Given the description of an element on the screen output the (x, y) to click on. 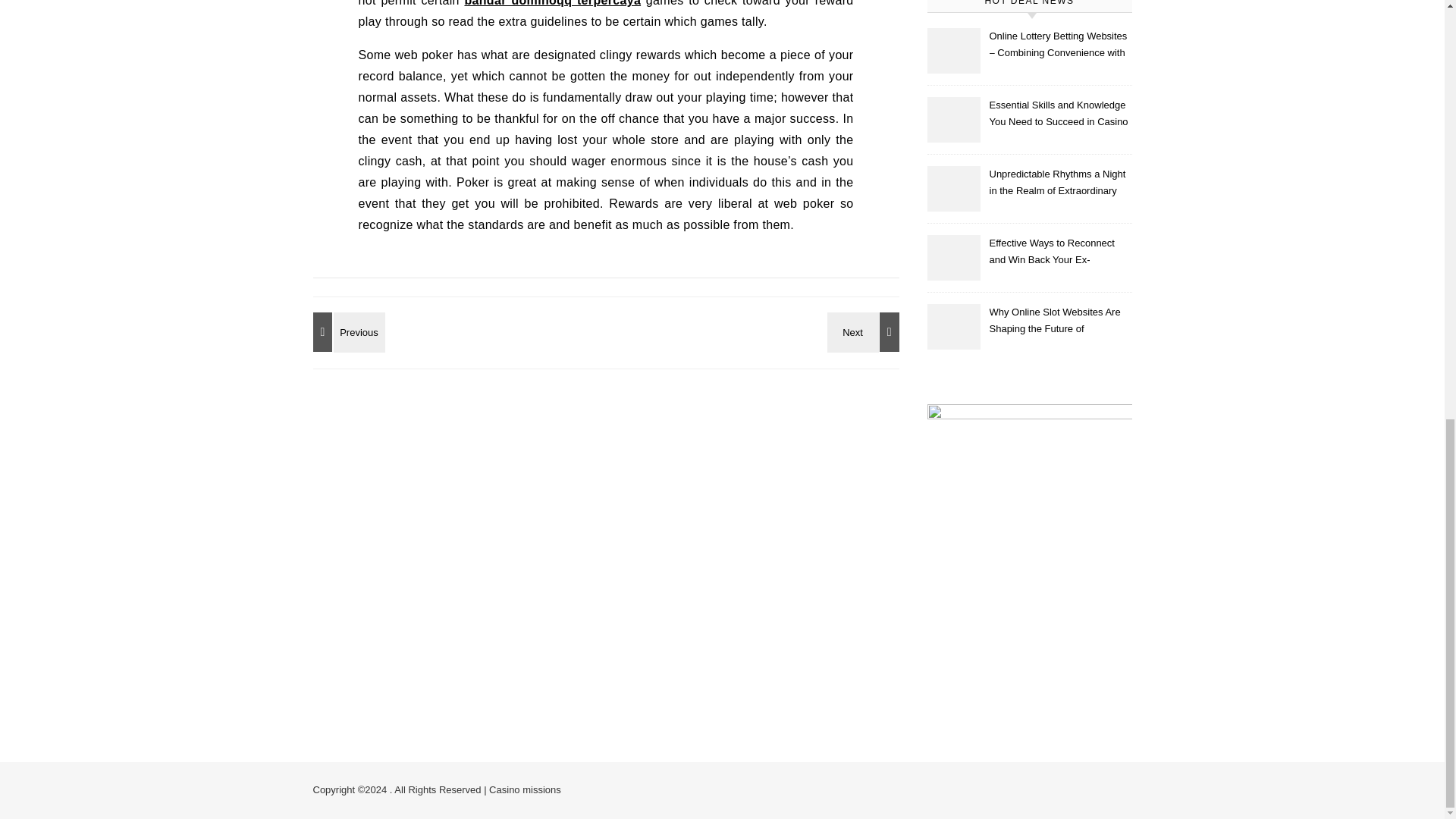
bandar dominoqq terpercaya (552, 3)
What Are the Different Types of Escorts in Liverpool? (865, 332)
